Given the description of an element on the screen output the (x, y) to click on. 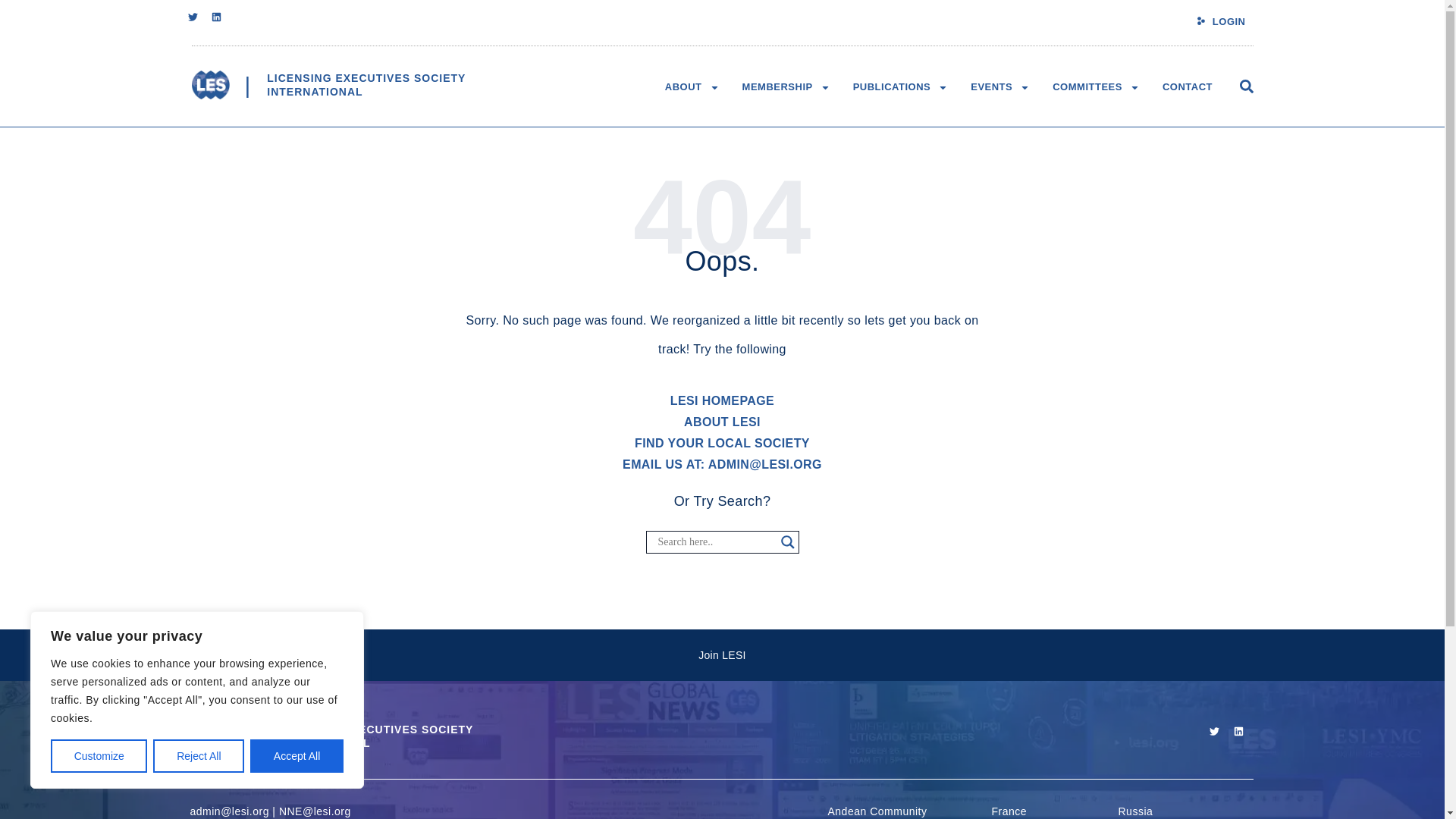
Reject All (198, 756)
Customize (98, 756)
LOGIN (1229, 21)
Accept All (365, 84)
